Given the description of an element on the screen output the (x, y) to click on. 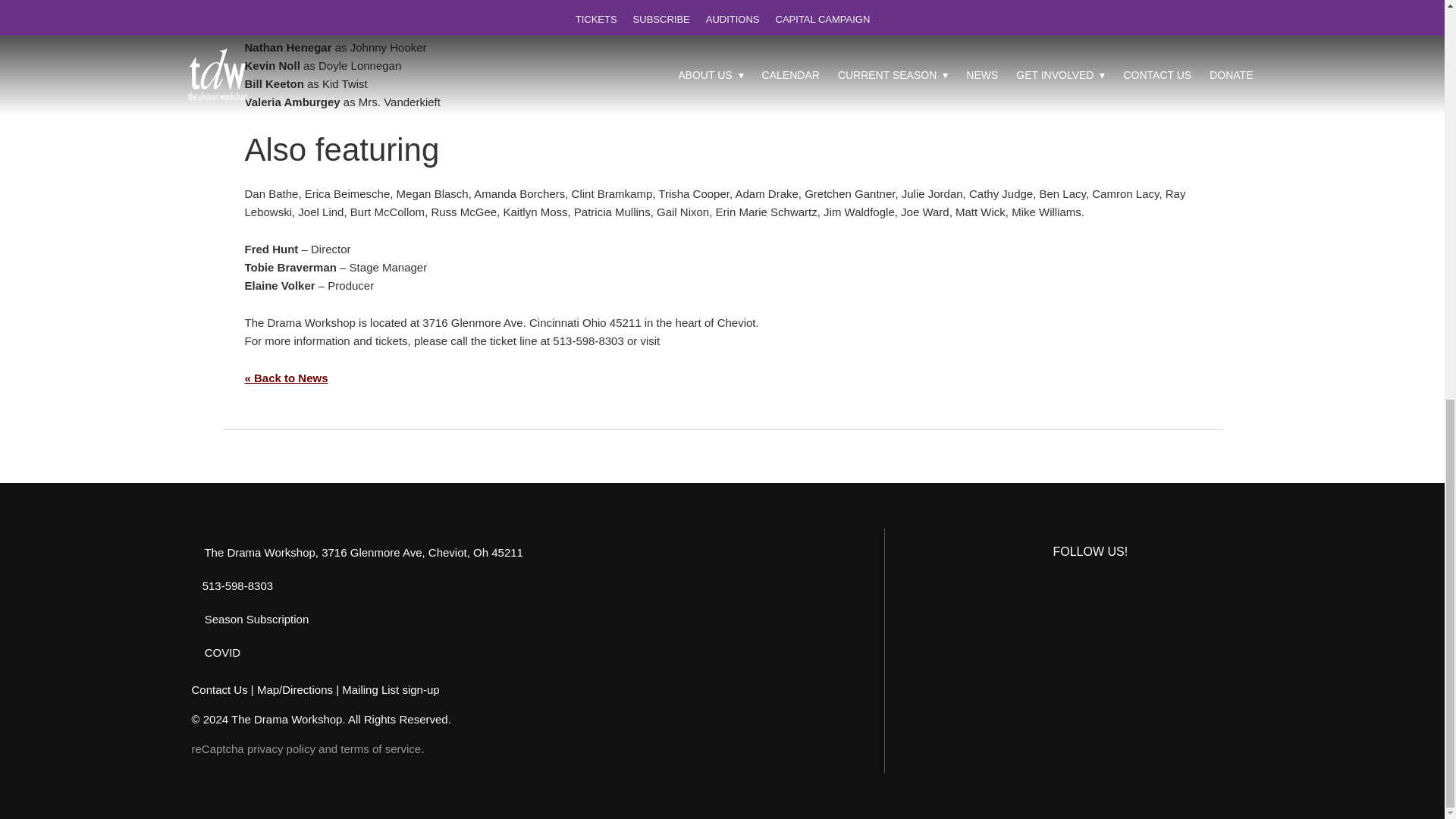
terms of service (380, 748)
Mailing List sign-up (390, 689)
Yours truly! (1062, 193)
privacy policy (281, 748)
Season Subscription (249, 618)
COVID (215, 652)
Contact Us (218, 689)
